Given the description of an element on the screen output the (x, y) to click on. 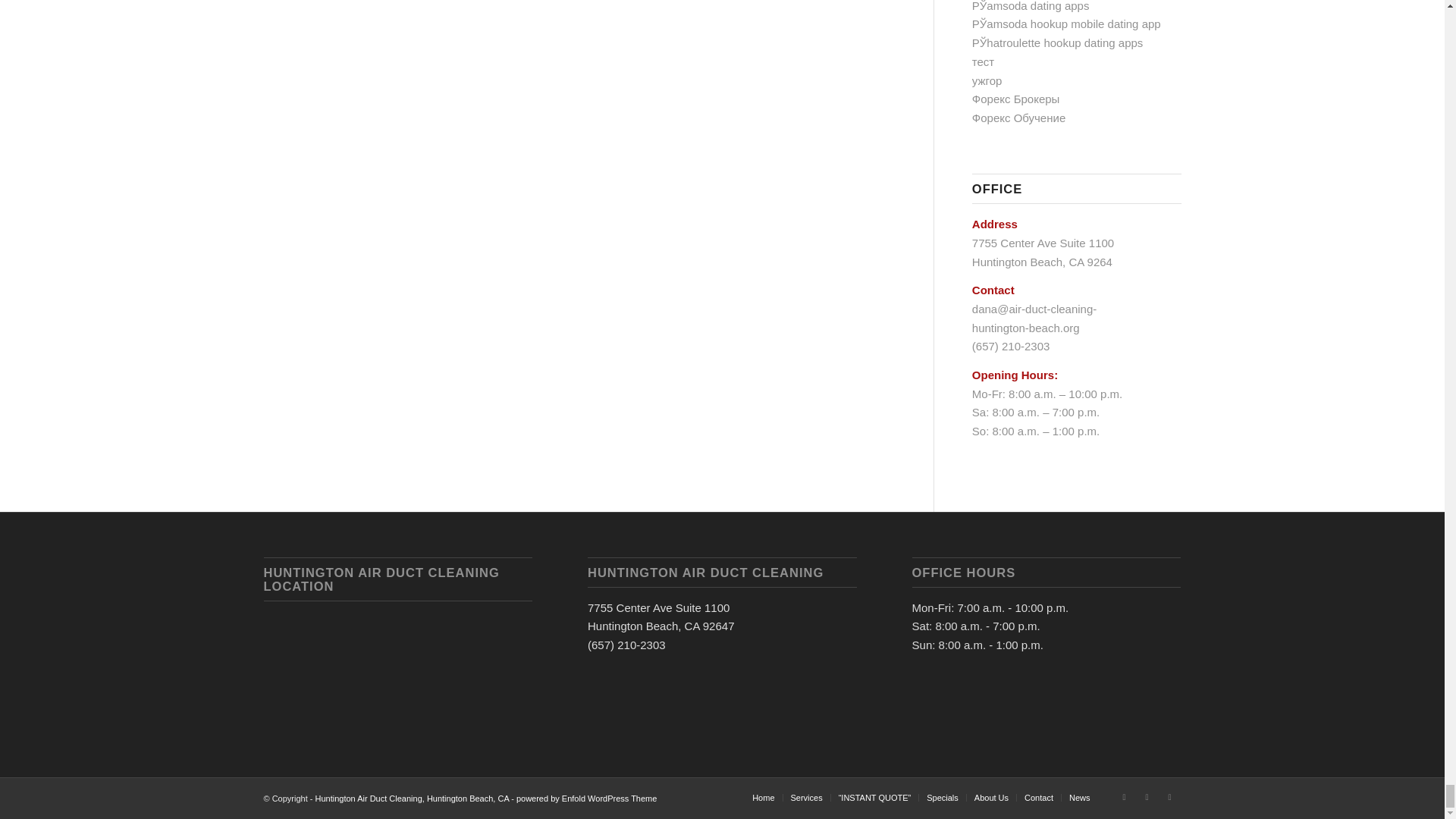
Facebook (1124, 796)
Twitter (1146, 796)
Specials (942, 797)
LinkedIn (1169, 796)
